Given the description of an element on the screen output the (x, y) to click on. 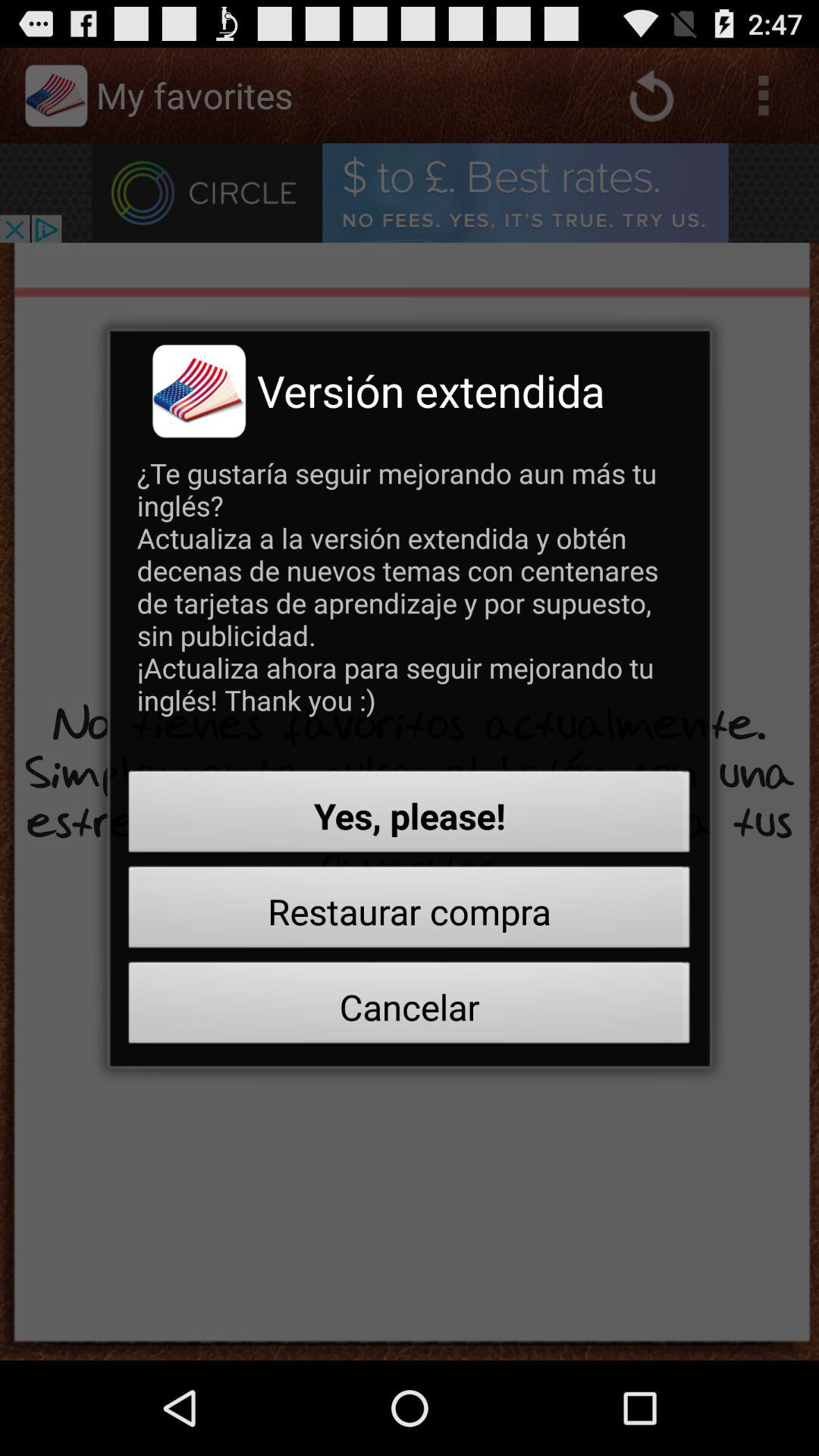
turn on cancelar icon (409, 1007)
